Given the description of an element on the screen output the (x, y) to click on. 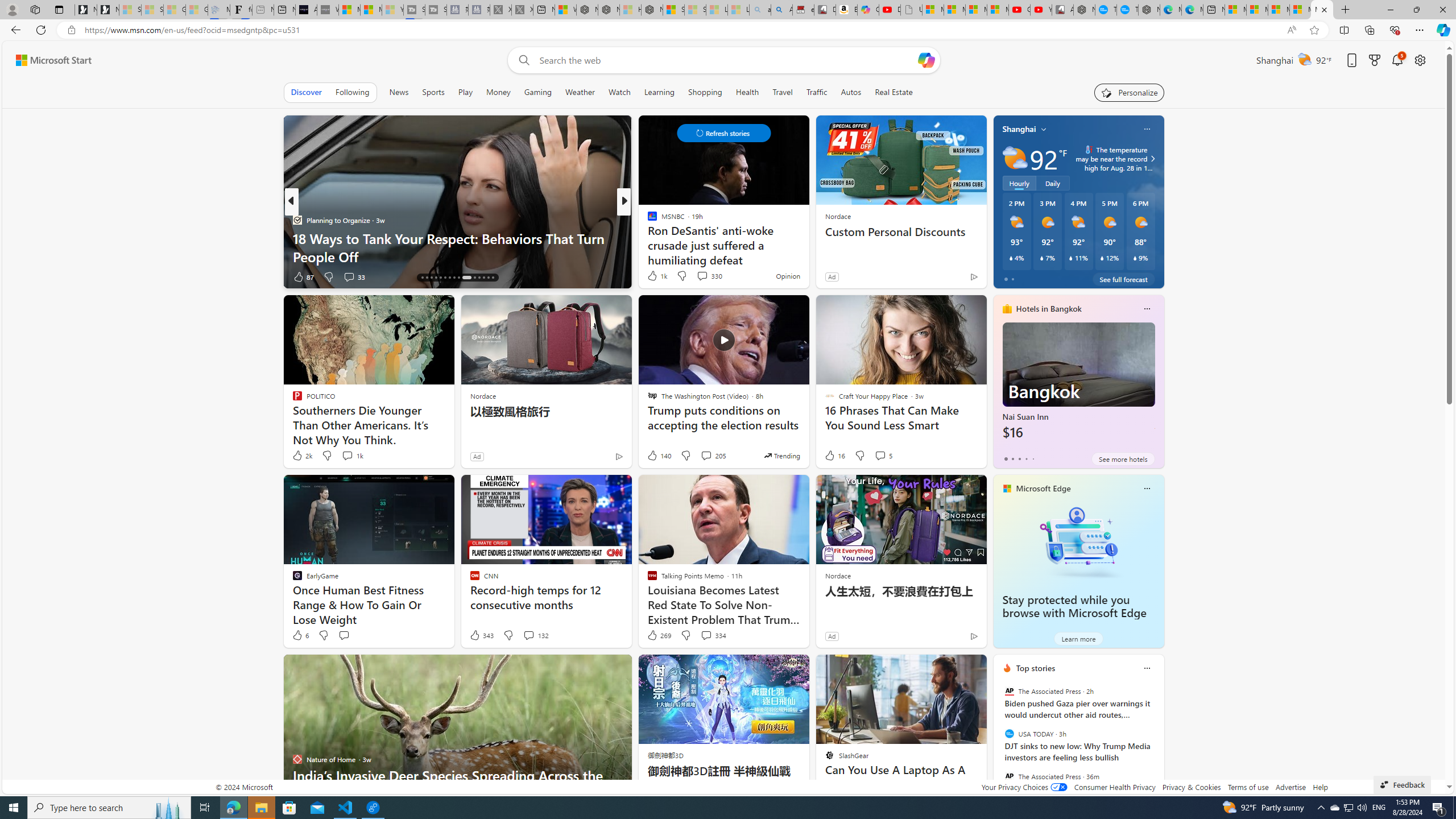
Stay protected while you browse with Microsoft Edge (1077, 541)
See more (972, 668)
Personalize your feed" (1129, 92)
AutomationID: tab-17 (426, 277)
Nordace - Summer Adventures 2024 (608, 9)
Watch (619, 92)
AutomationID: tab-24 (458, 277)
Open settings (1420, 60)
Hourly (1018, 183)
Gaming (537, 92)
View comments 132 Comment (535, 634)
